Given the description of an element on the screen output the (x, y) to click on. 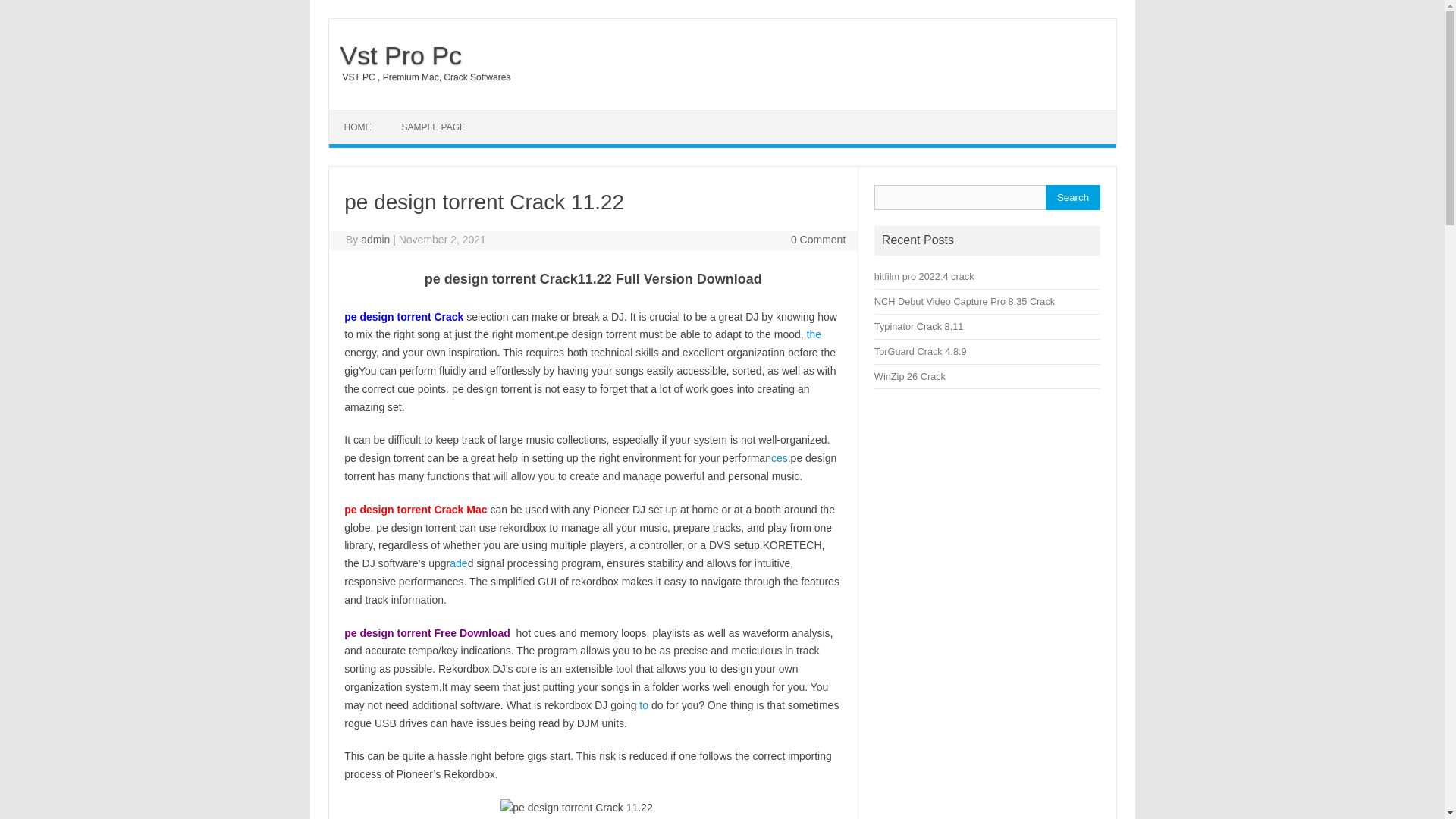
admin (375, 239)
Search (1072, 197)
the (812, 334)
Skip to content (363, 114)
TorGuard Crack 4.8.9 (920, 351)
Search (1072, 197)
pe design torrent Crack (403, 316)
VST PC , Premium Mac, Crack Softwares (420, 77)
Vst Pro Pc (396, 54)
hitfilm pro 2022.4 crack (924, 276)
